Given the description of an element on the screen output the (x, y) to click on. 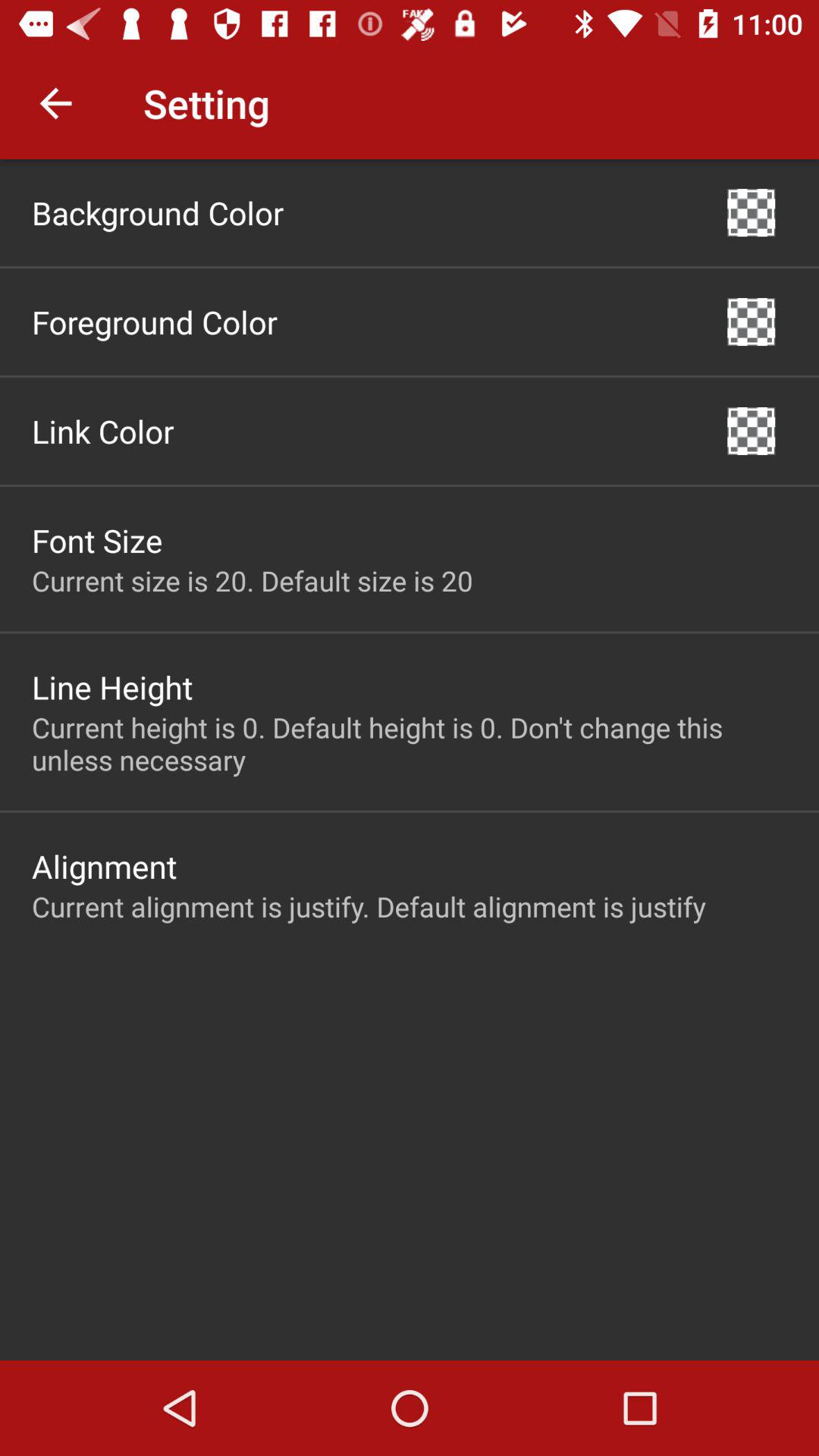
select icon above current height is item (751, 431)
